Given the description of an element on the screen output the (x, y) to click on. 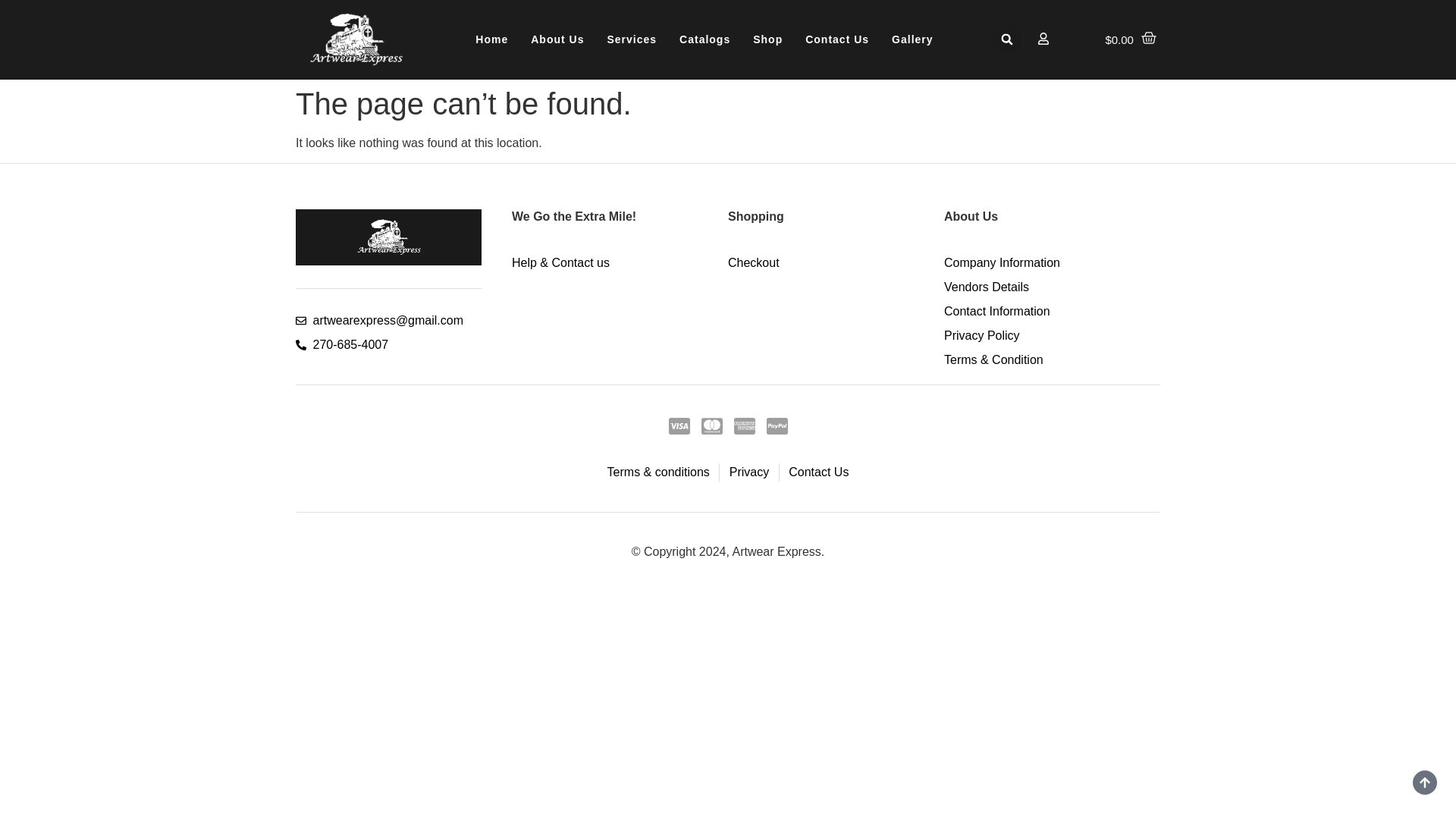
Home (491, 39)
Gallery (911, 39)
Shop (767, 39)
About Us (557, 39)
Services (631, 39)
Catalogs (704, 39)
Contact Us (836, 39)
